Given the description of an element on the screen output the (x, y) to click on. 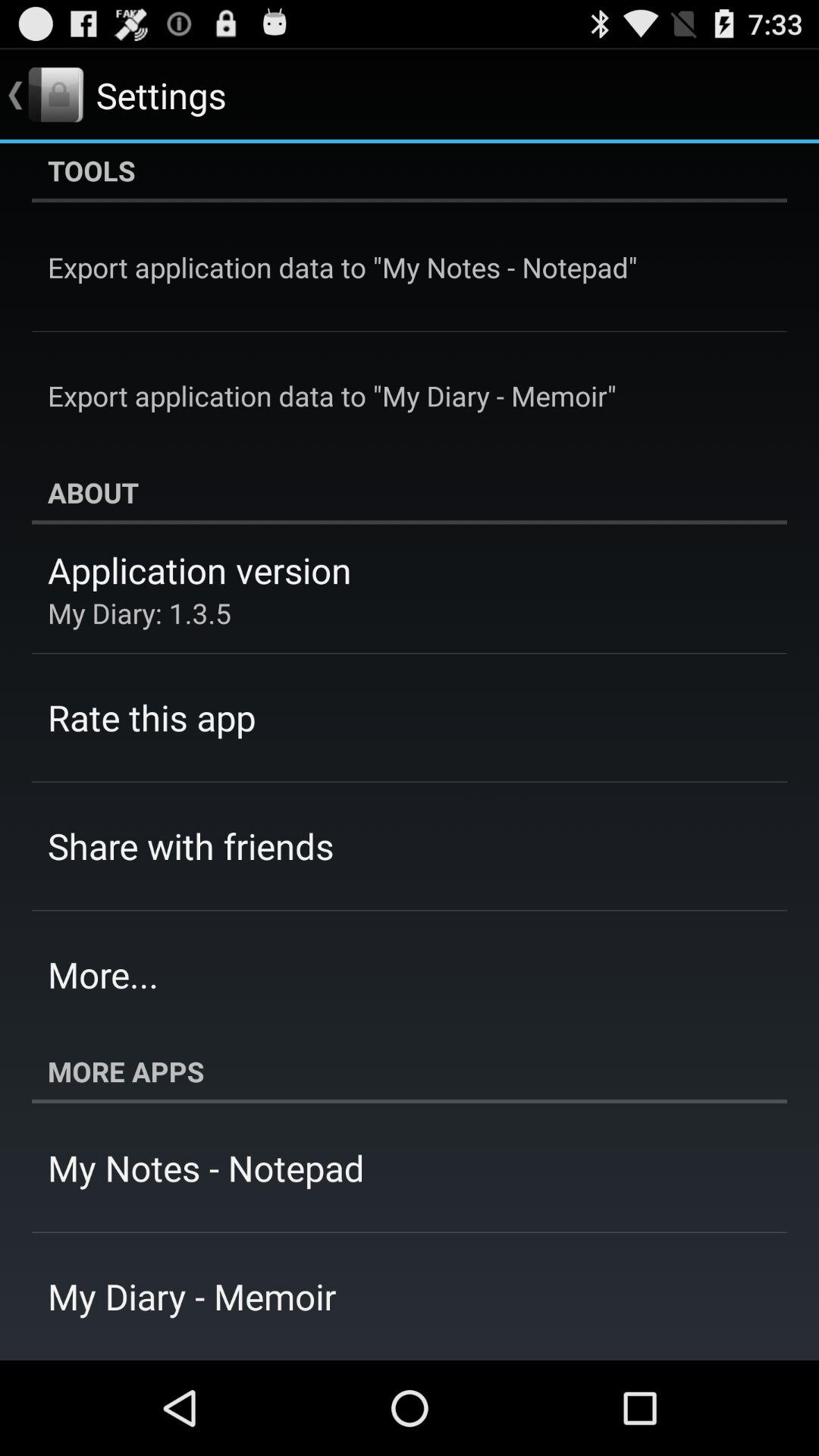
open the application version icon (199, 570)
